Given the description of an element on the screen output the (x, y) to click on. 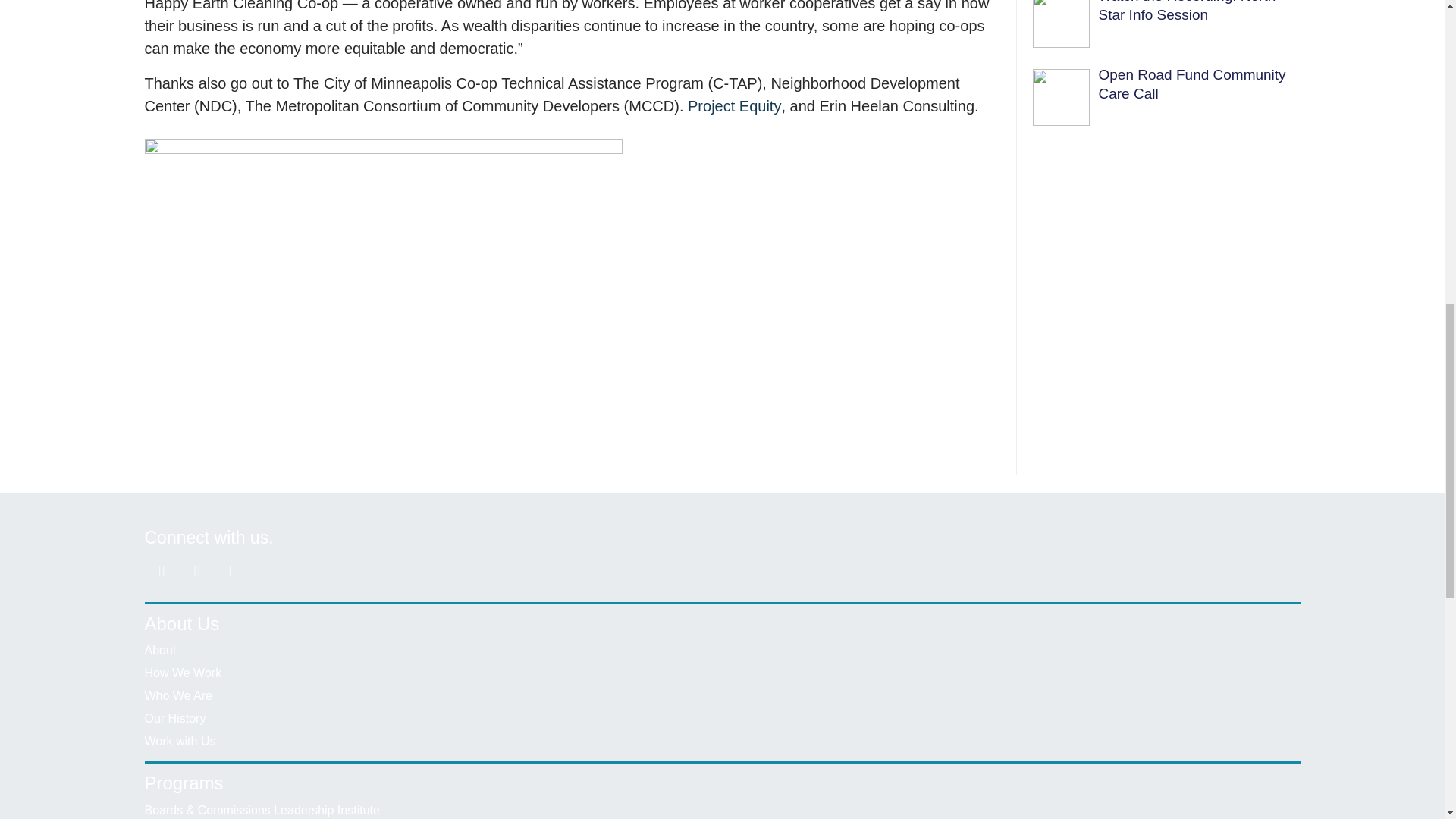
Watch the Recording: North Star Info Session (1186, 11)
Project Equity (733, 106)
Open Road Fund Community Care Call (1191, 84)
